Given the description of an element on the screen output the (x, y) to click on. 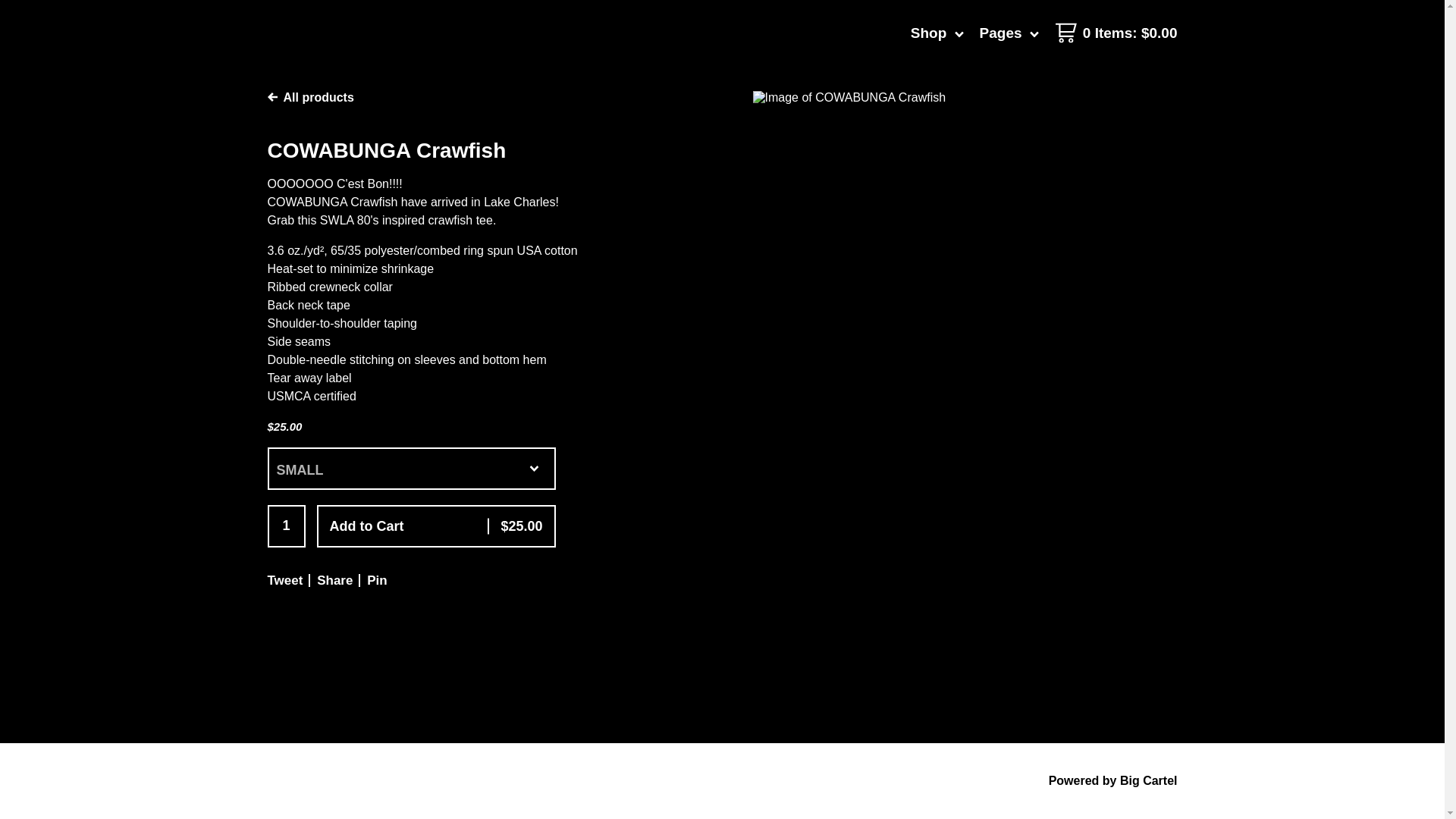
COWABUNGA Crawfish (964, 97)
Pin (376, 580)
Shop (937, 32)
All products (309, 97)
Tweet (284, 580)
1 (285, 526)
Pages (1008, 32)
Share (334, 580)
All products (309, 97)
